Given the description of an element on the screen output the (x, y) to click on. 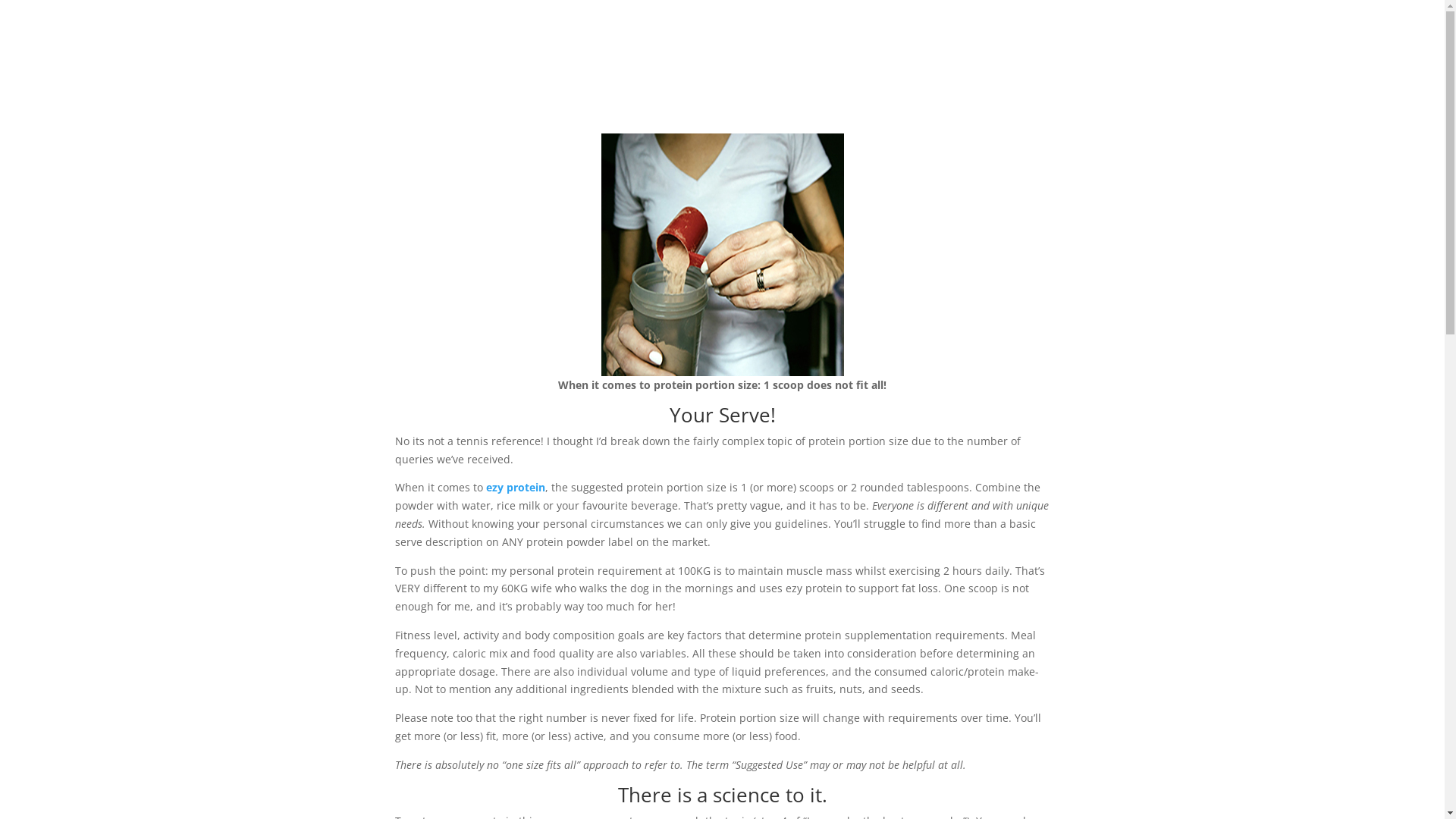
ezy protein Element type: text (514, 487)
